Given the description of an element on the screen output the (x, y) to click on. 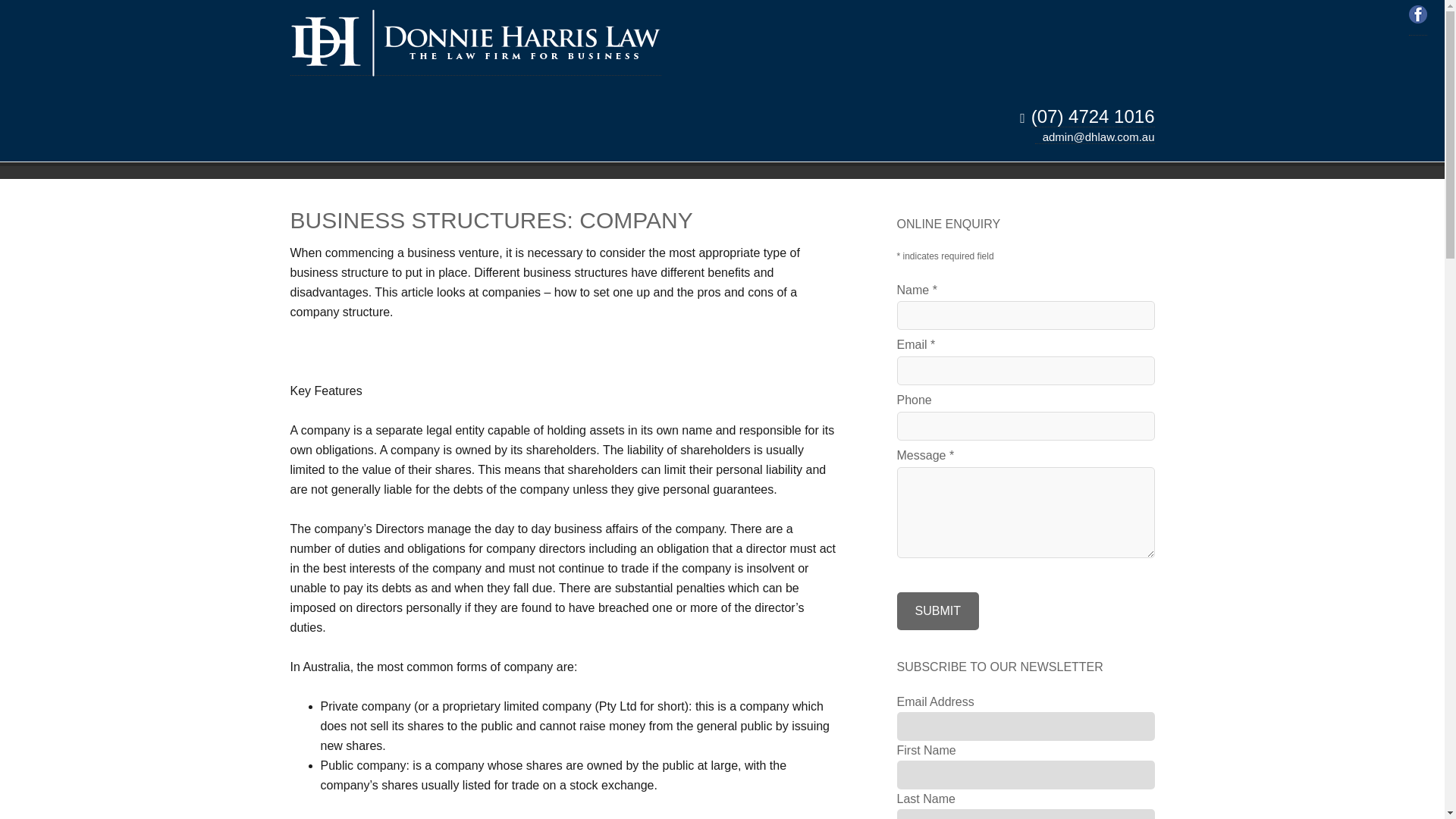
HOME (319, 109)
OUR SERVICES (402, 109)
